Given the description of an element on the screen output the (x, y) to click on. 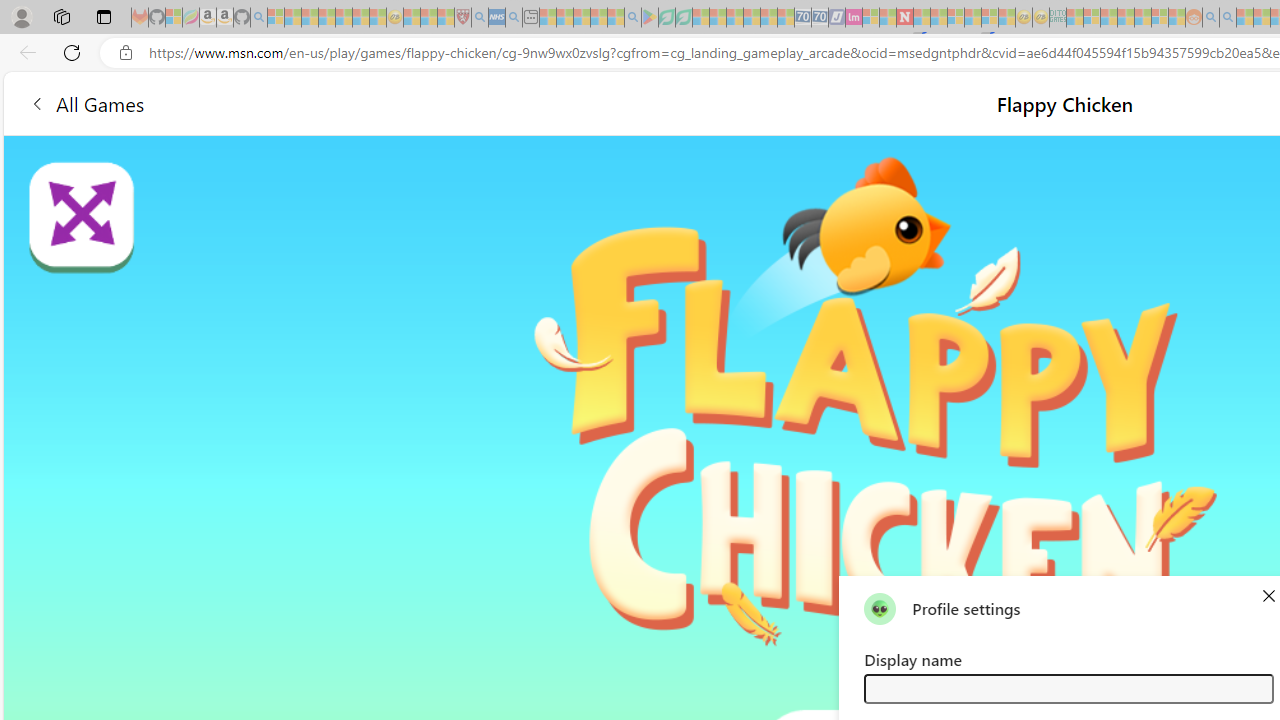
Utah sues federal government - Search - Sleeping (1227, 17)
Jobs - lastminute.com Investor Portal - Sleeping (853, 17)
